Given the description of an element on the screen output the (x, y) to click on. 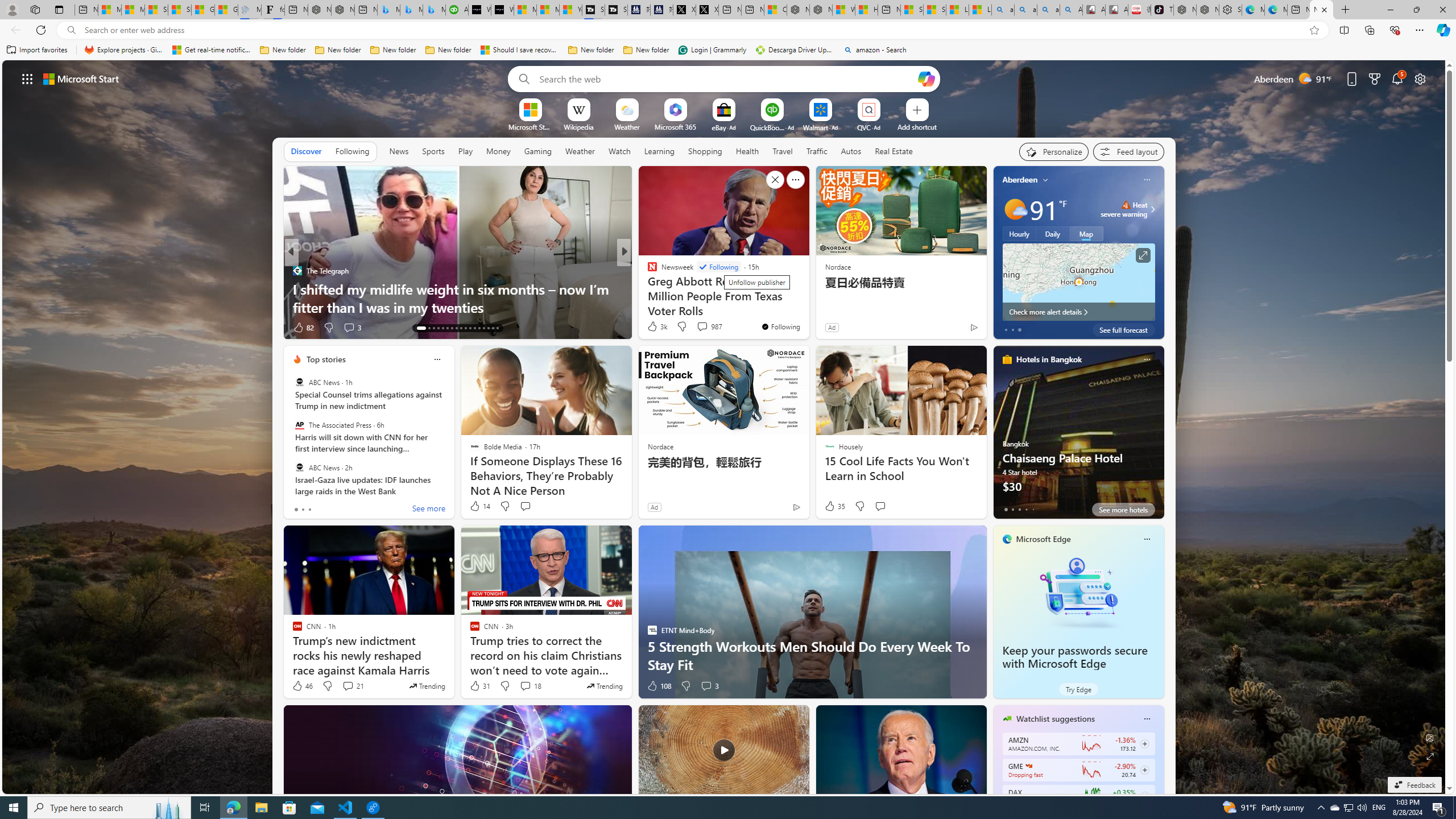
View comments 22 Comment (703, 327)
79 Like (652, 327)
Microsoft Bing Travel - Stays in Bangkok, Bangkok, Thailand (411, 9)
View comments 156 Comment (709, 327)
14 Like (479, 505)
Expand background (1430, 756)
Heat - Severe (1126, 204)
View comments 17 Comment (703, 327)
Why the GOP is no longer denying climate change (807, 307)
